Given the description of an element on the screen output the (x, y) to click on. 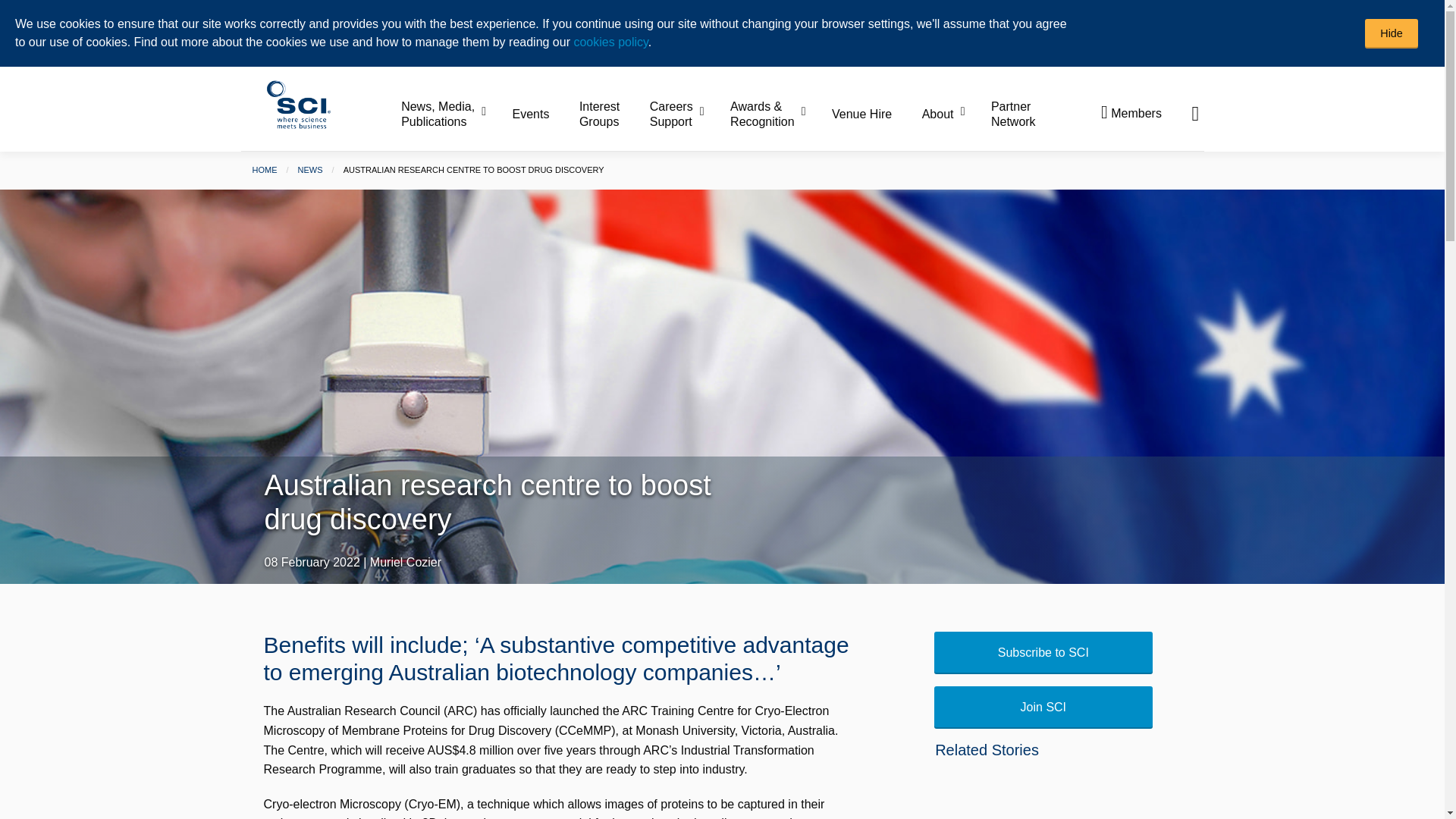
Venue Hire (874, 113)
cookies policy (610, 42)
Hide (1391, 33)
Partner Network (1013, 114)
About (954, 113)
Careers Support (687, 114)
Events (544, 113)
News, Media, Publications (454, 114)
Interest Groups (612, 114)
